Given the description of an element on the screen output the (x, y) to click on. 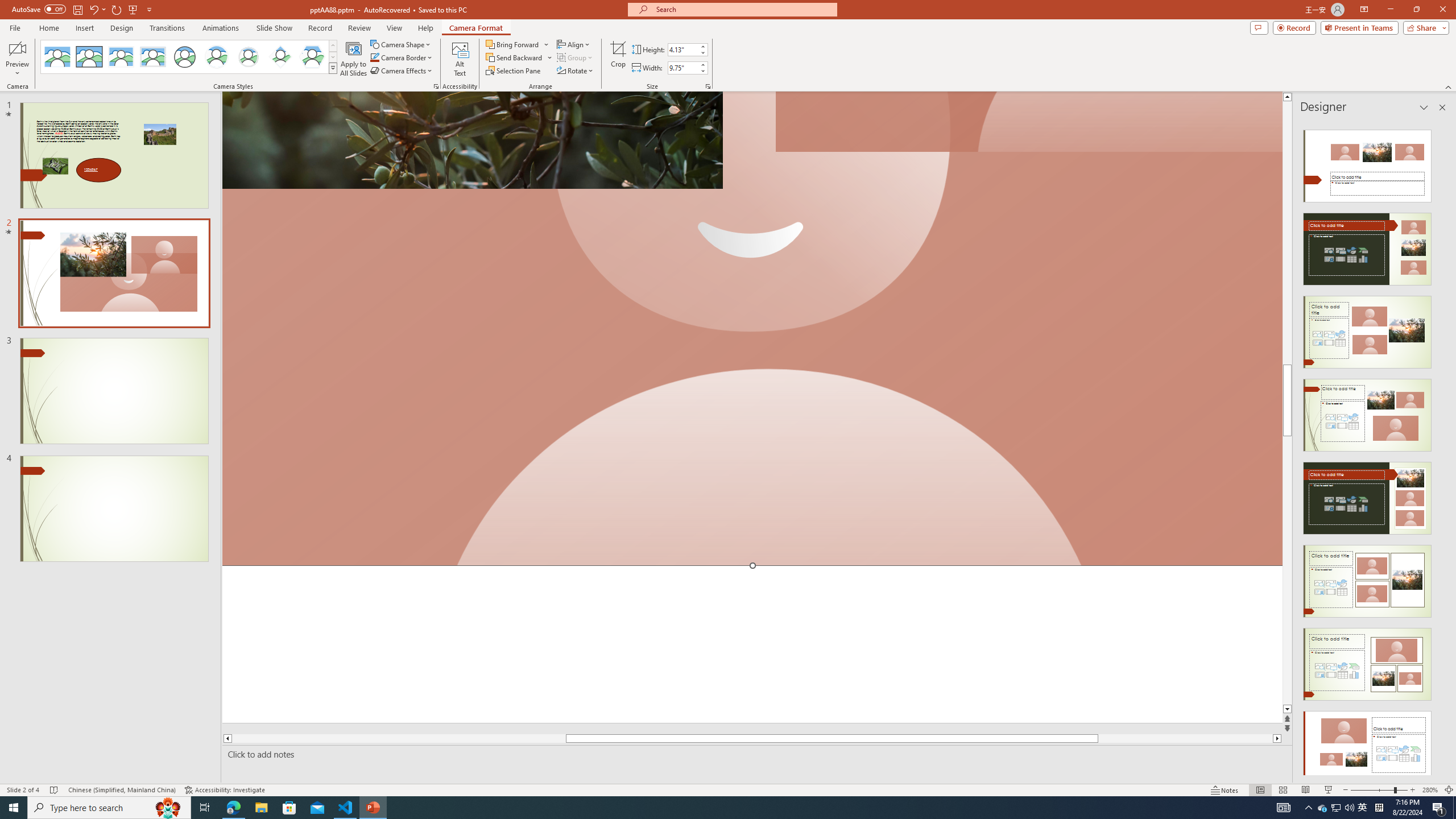
Cameo Width (682, 67)
Group (575, 56)
Class: NetUIScrollBar (1441, 447)
Camera Effects (402, 69)
Send Backward (514, 56)
